Given the description of an element on the screen output the (x, y) to click on. 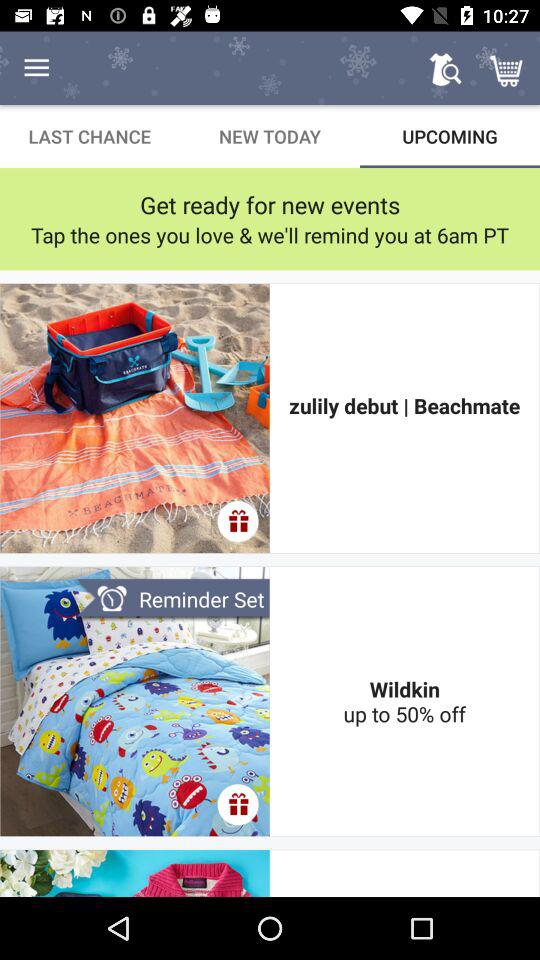
launch get ready for (270, 204)
